Given the description of an element on the screen output the (x, y) to click on. 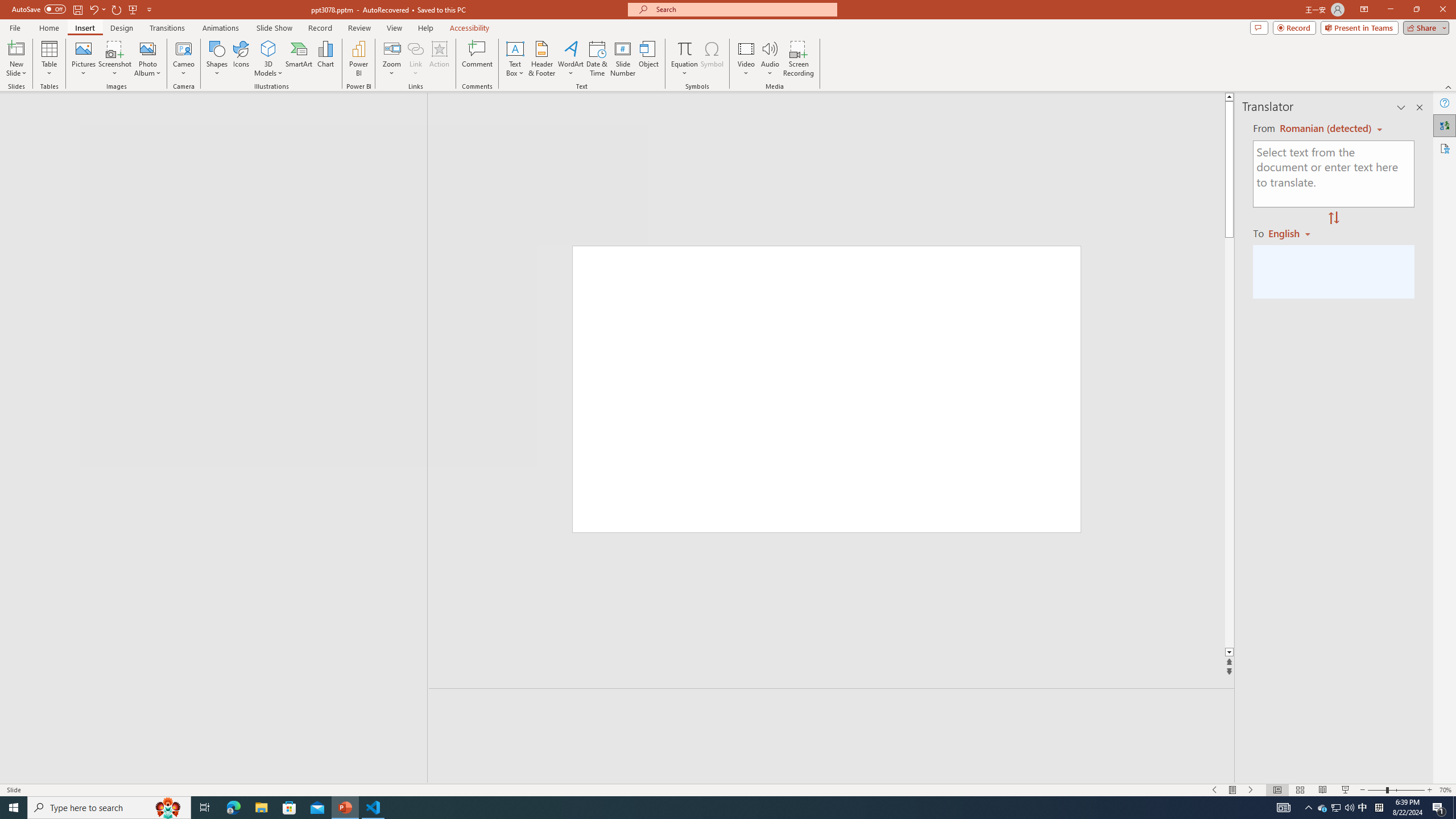
Photo Album... (147, 58)
Chart... (325, 58)
Object... (649, 58)
Screenshot (114, 58)
